Given the description of an element on the screen output the (x, y) to click on. 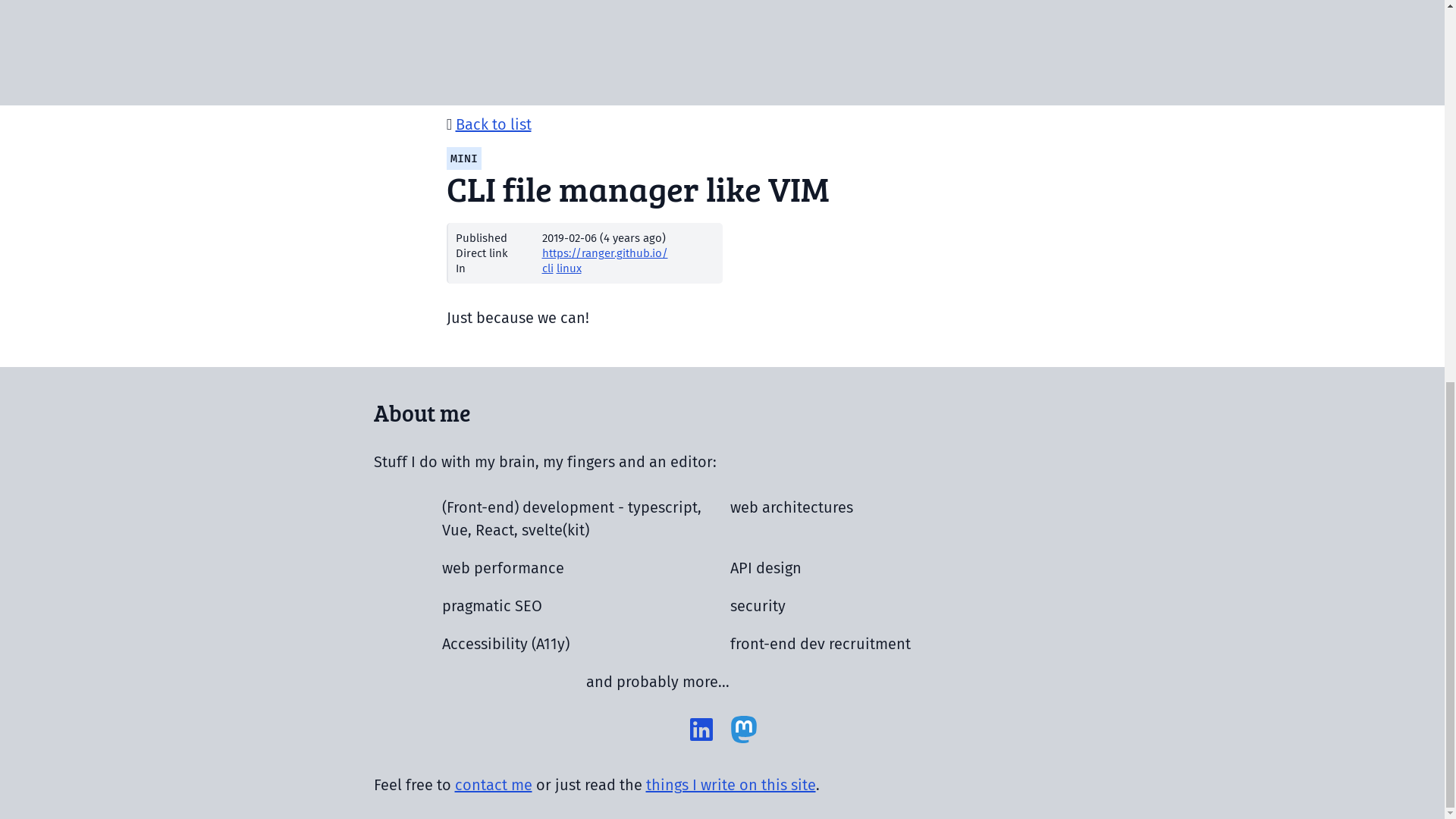
about me Element type: text (722, 458)
